Given the description of an element on the screen output the (x, y) to click on. 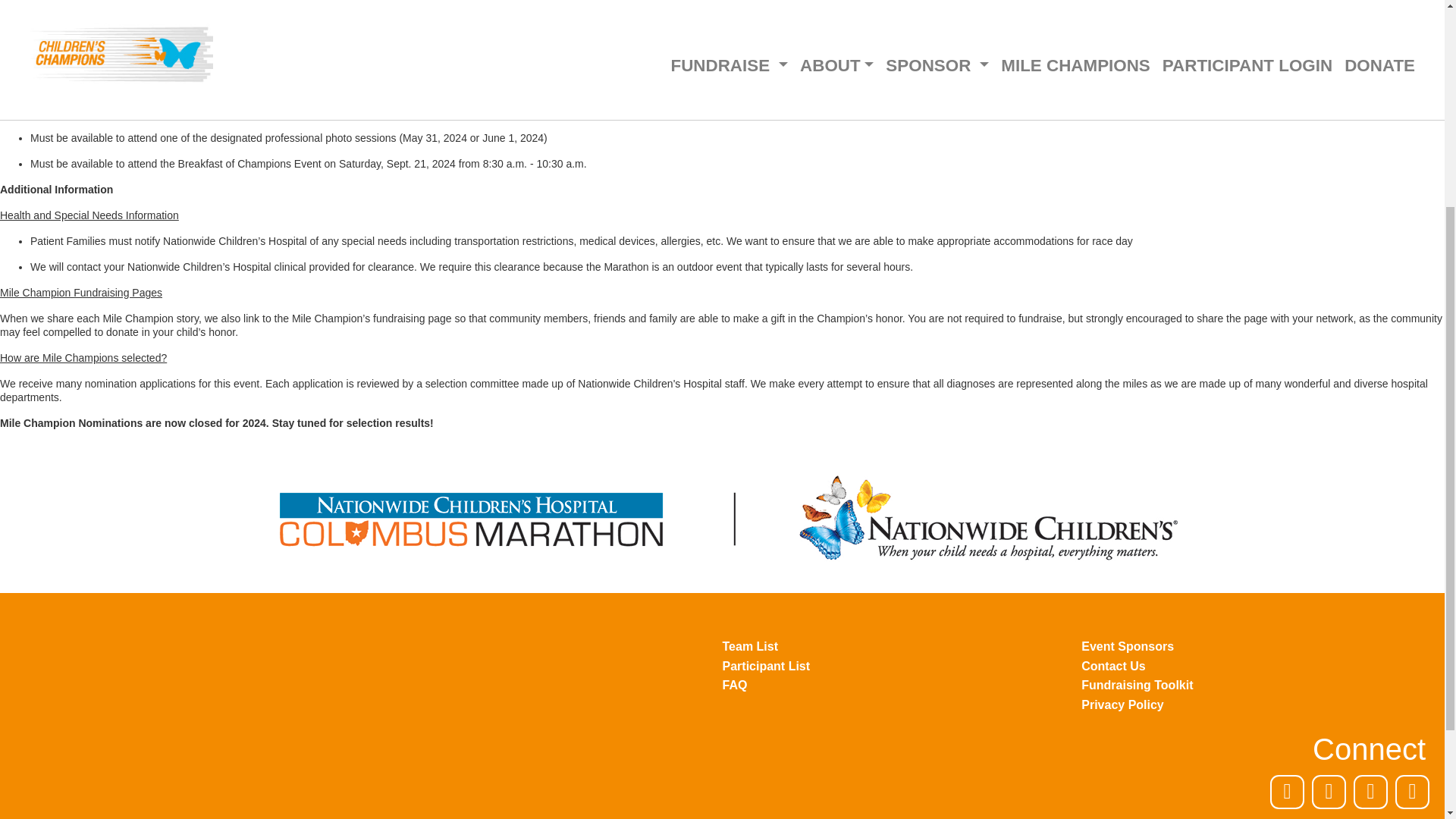
YouTube (1411, 791)
Fundraising Toolkit (1261, 685)
Participant List (901, 666)
Instagram (1370, 791)
Facebook (1286, 791)
Privacy Policy (1261, 704)
Event Sponsors (1261, 646)
Contact Us (1261, 666)
Team List (901, 646)
FAQ (901, 685)
Twitter (1328, 791)
